Given the description of an element on the screen output the (x, y) to click on. 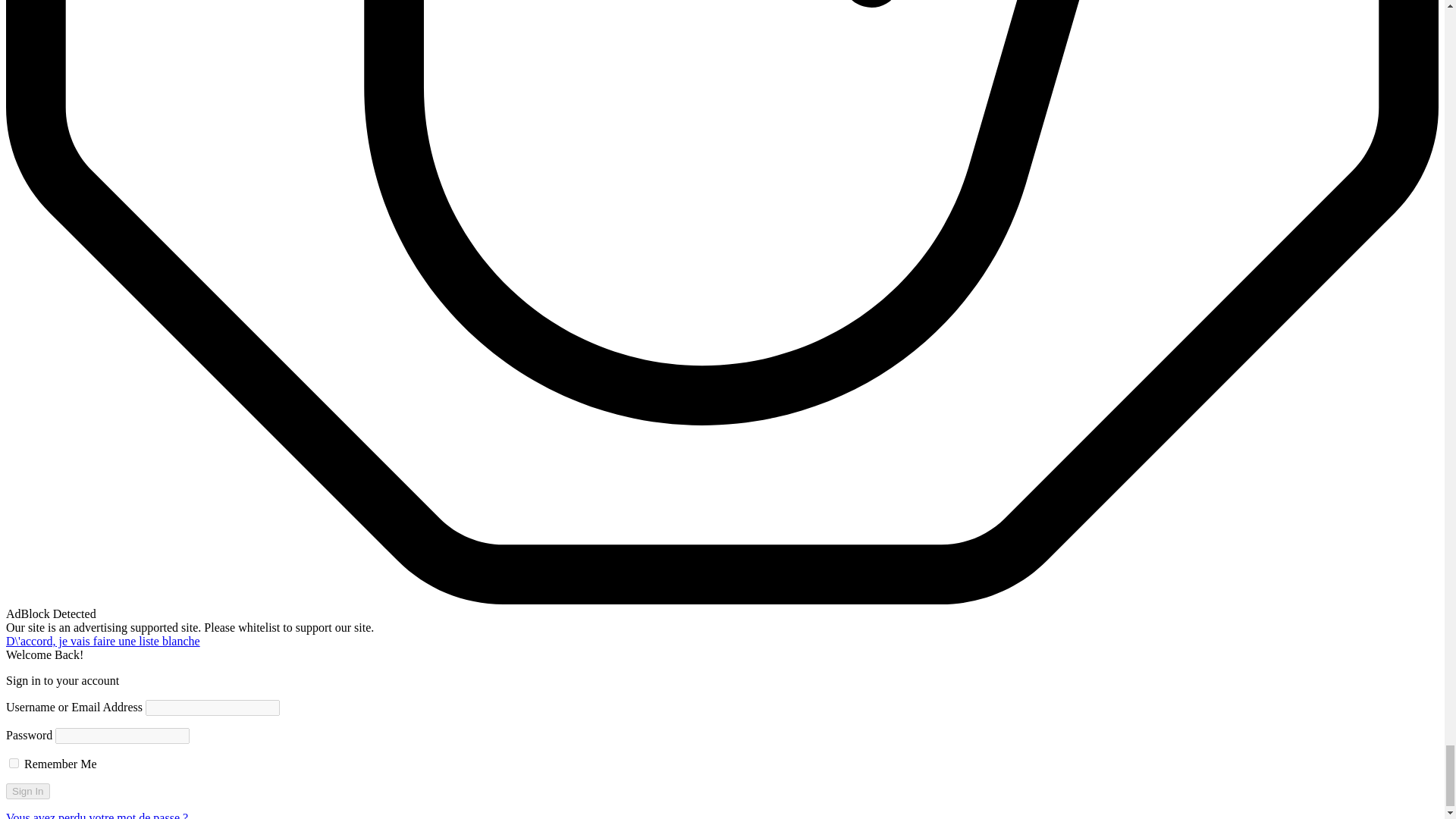
forever (13, 763)
Sign In (27, 790)
